Given the description of an element on the screen output the (x, y) to click on. 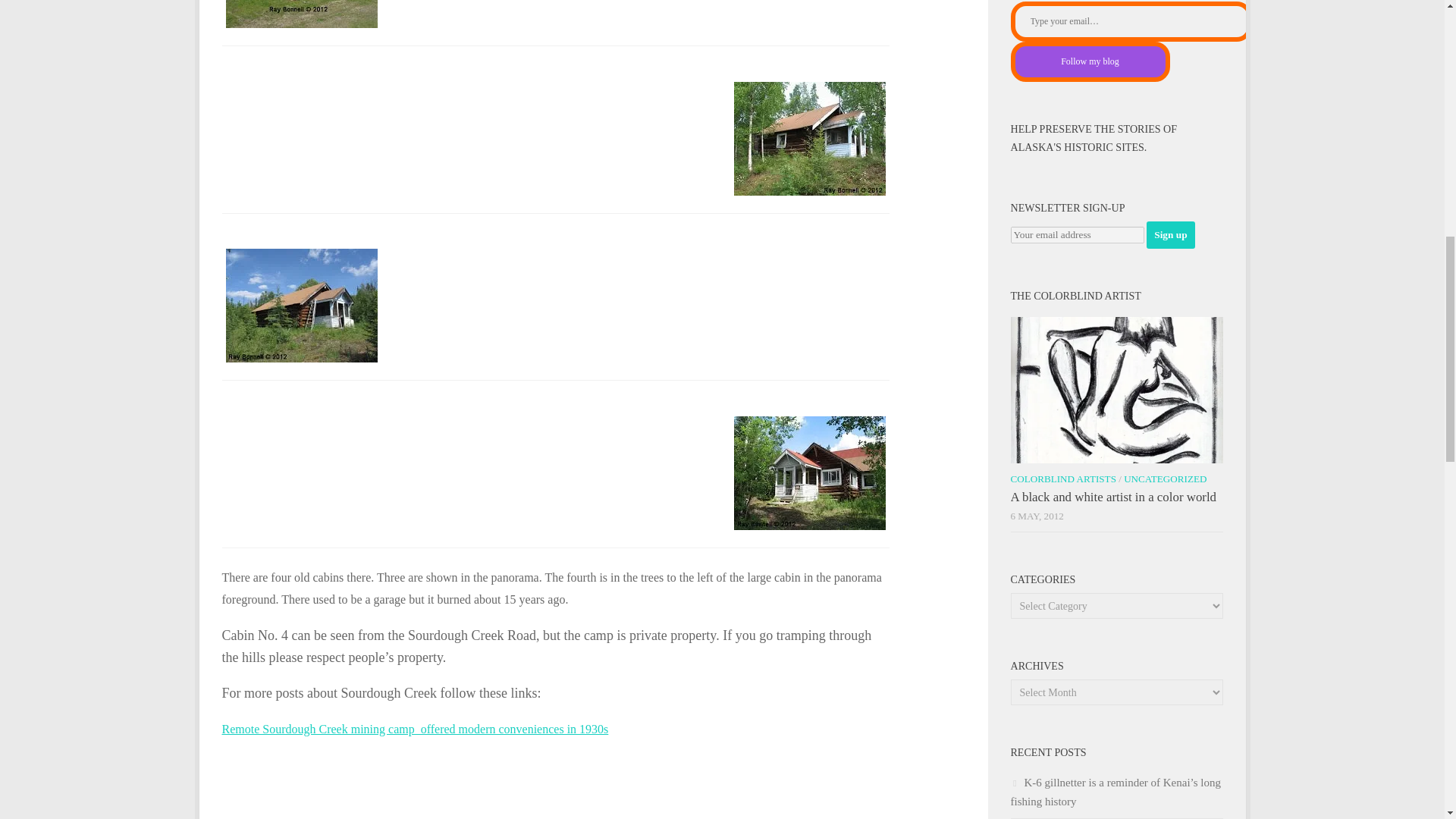
Sign up (1170, 234)
Permalink to A black and white artist in a color world (1112, 496)
Please fill in this field. (1130, 21)
